Given the description of an element on the screen output the (x, y) to click on. 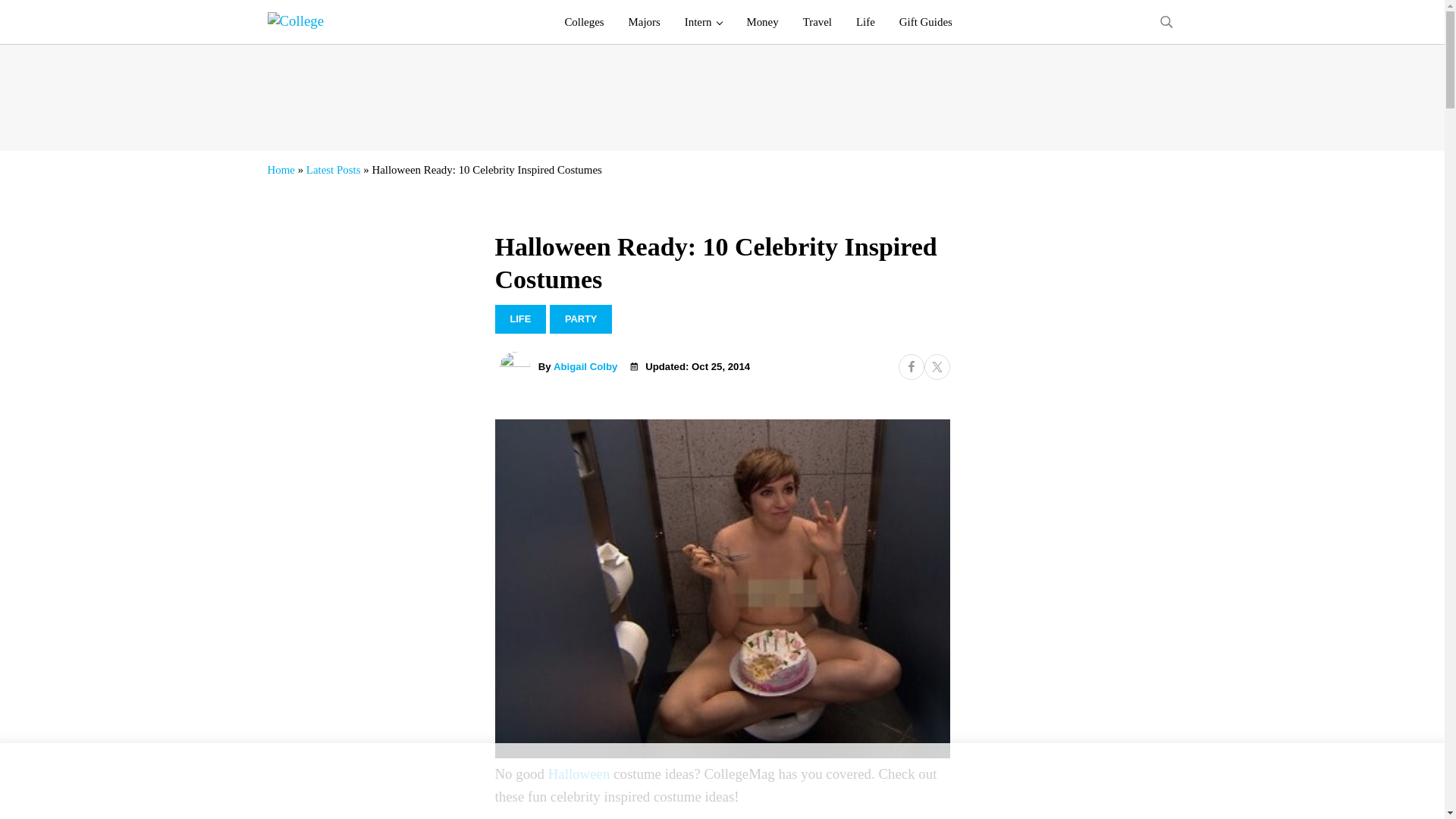
Halloween (579, 773)
Travel (817, 21)
LIFE (520, 318)
Money (761, 21)
Abigail Colby (585, 366)
Majors (643, 21)
Gift Guides (924, 21)
Life (865, 21)
Share on Twitter (936, 366)
Share on Facebook (910, 366)
